Given the description of an element on the screen output the (x, y) to click on. 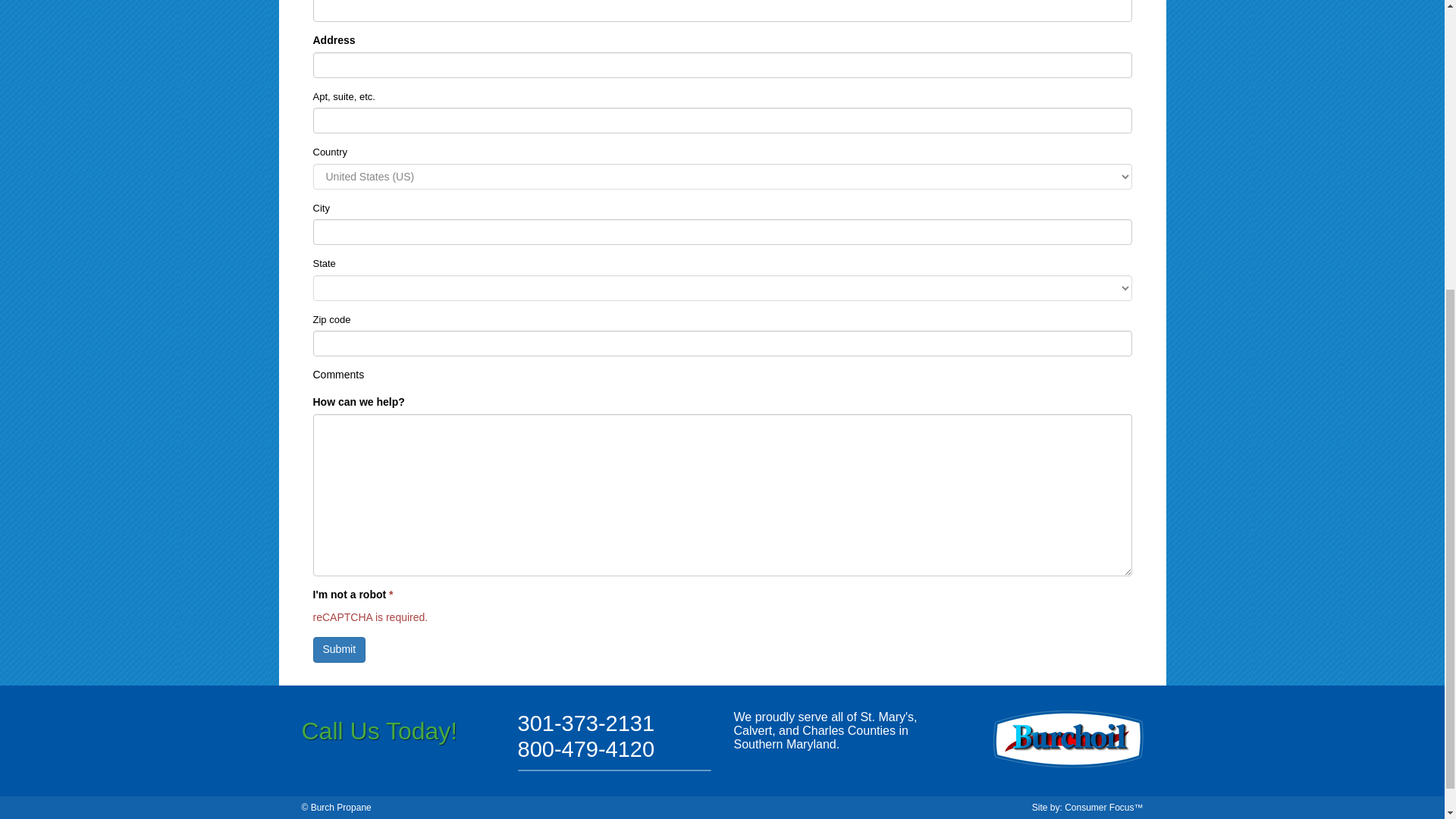
301-373-2131 (584, 723)
Submit (339, 649)
St. Mary's (887, 716)
800-479-4120 (584, 749)
